Given the description of an element on the screen output the (x, y) to click on. 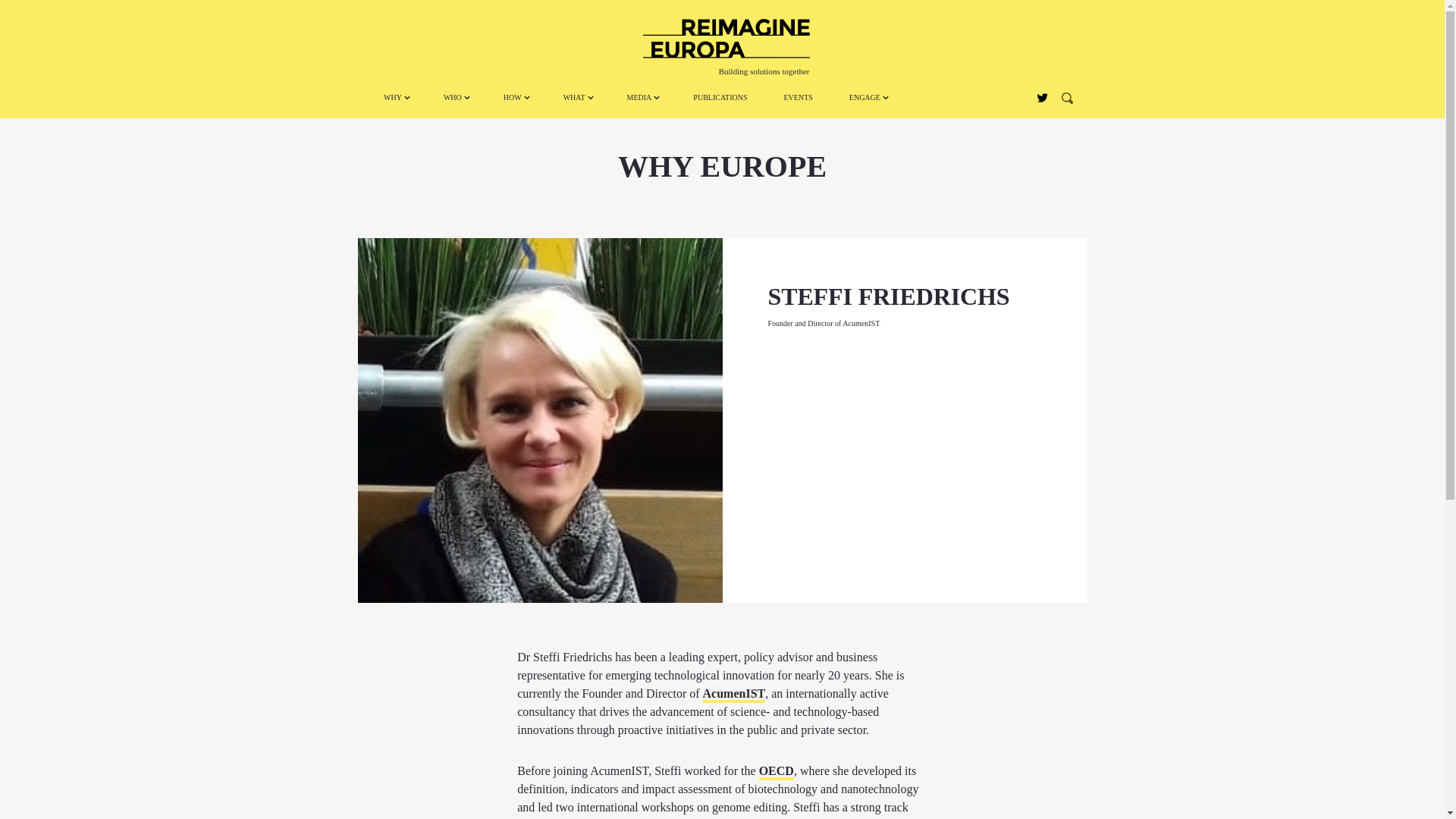
WHAT (576, 96)
ENGAGE (867, 96)
EVENTS (797, 96)
PUBLICATIONS (720, 96)
WHY (395, 96)
MEDIA (641, 96)
HOW (514, 96)
OECD (775, 772)
AcumenIST (734, 694)
WHO (454, 96)
Building solutions together (726, 38)
